Given the description of an element on the screen output the (x, y) to click on. 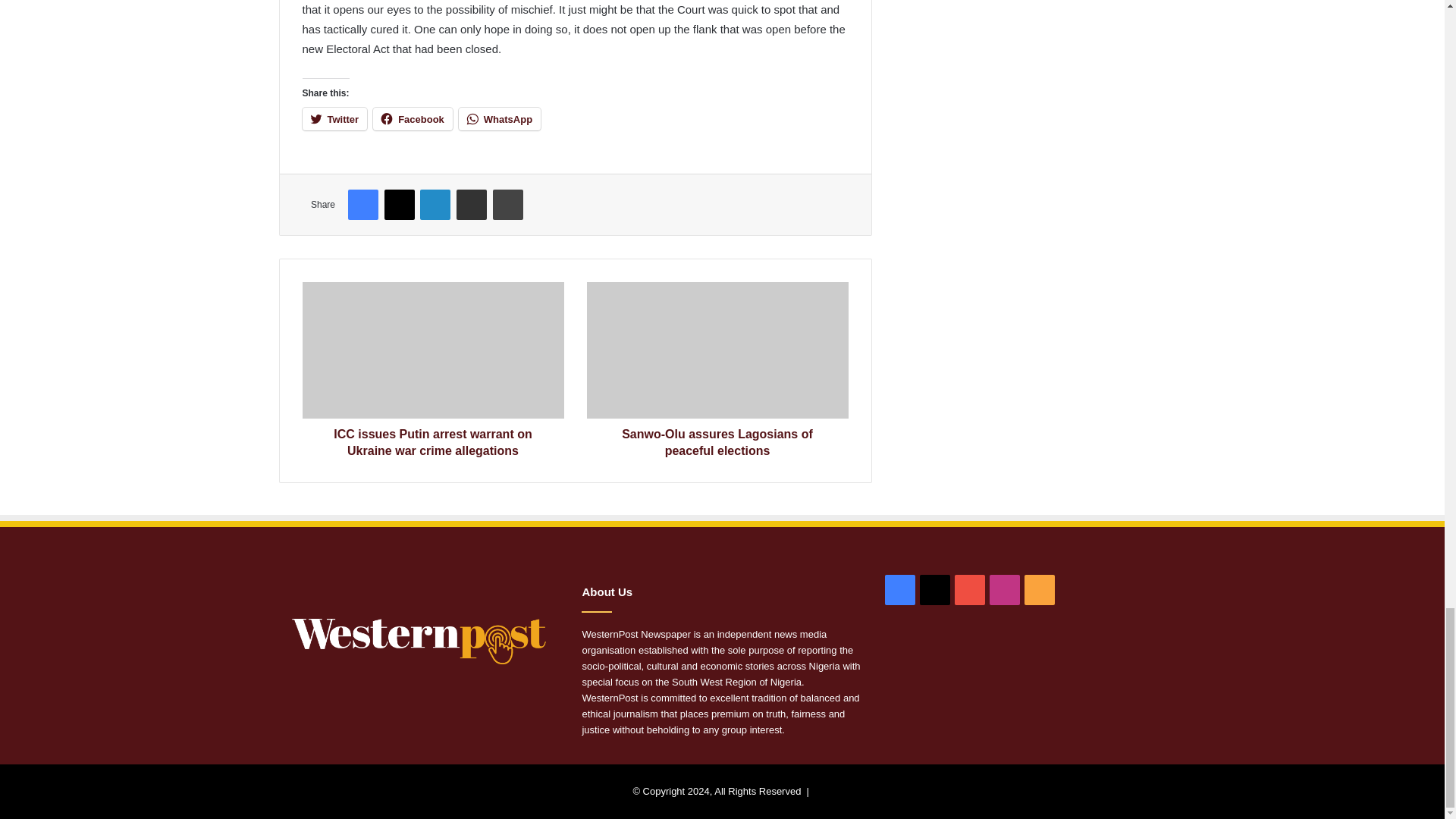
Click to share on Facebook (412, 118)
Click to share on Twitter (333, 118)
Click to share on WhatsApp (499, 118)
